Given the description of an element on the screen output the (x, y) to click on. 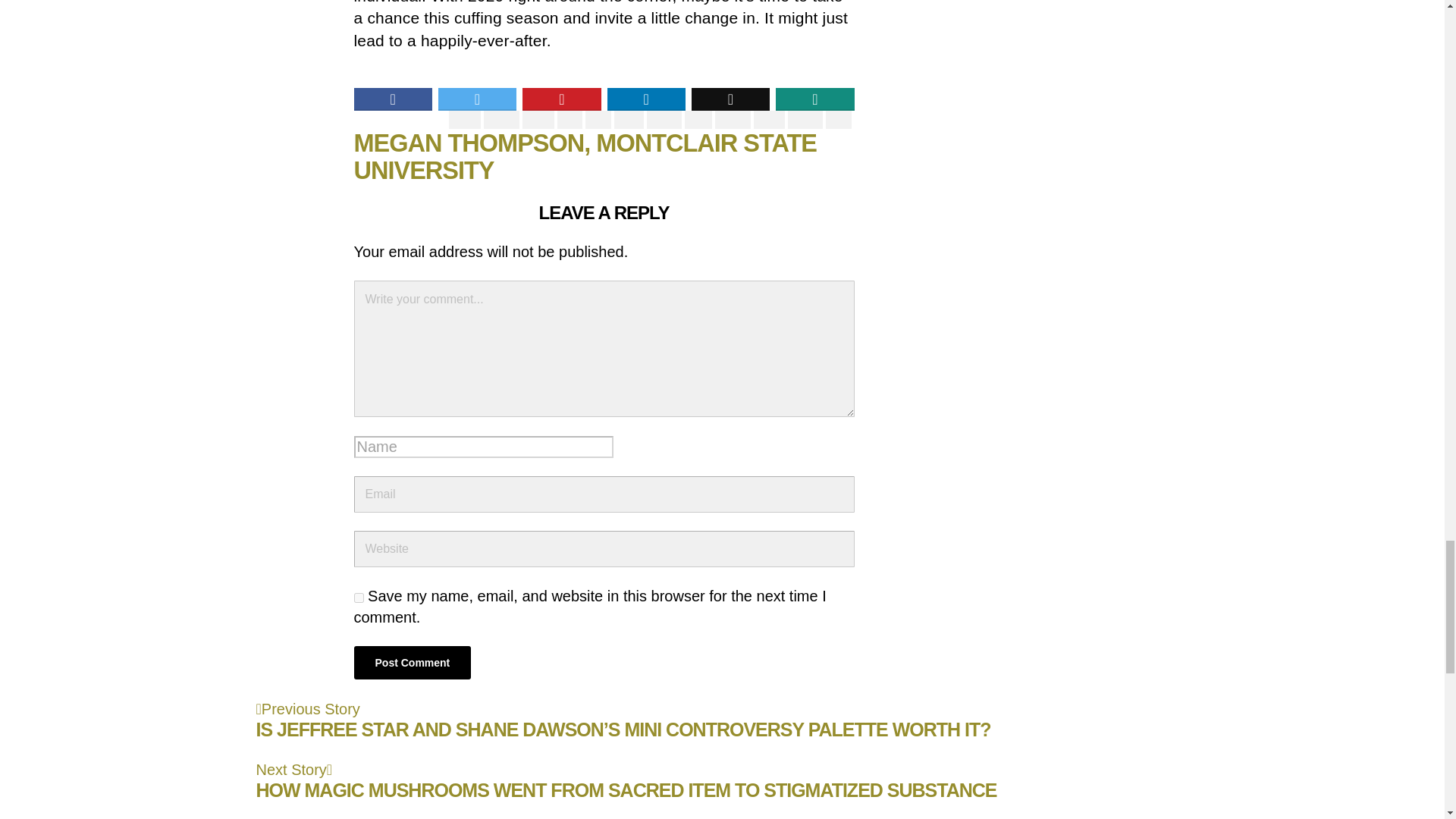
yes (357, 597)
Post Comment (411, 662)
